Given the description of an element on the screen output the (x, y) to click on. 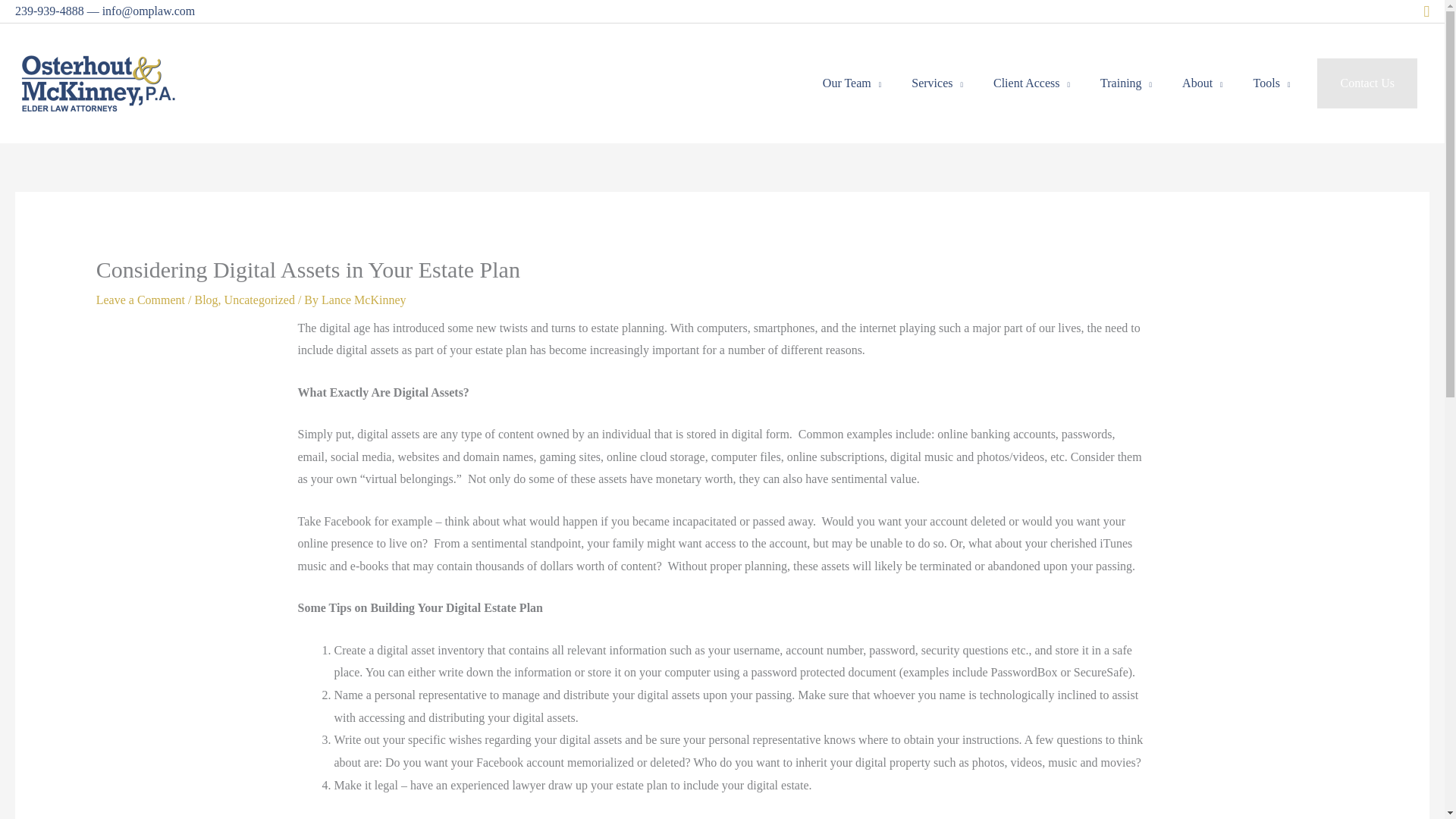
239-939-4888 (49, 10)
View all posts by Lance McKinney (363, 299)
Services (937, 82)
Tools (1272, 82)
Client Access (1031, 82)
About (1203, 82)
Training (1125, 82)
Our Team (852, 82)
